Given the description of an element on the screen output the (x, y) to click on. 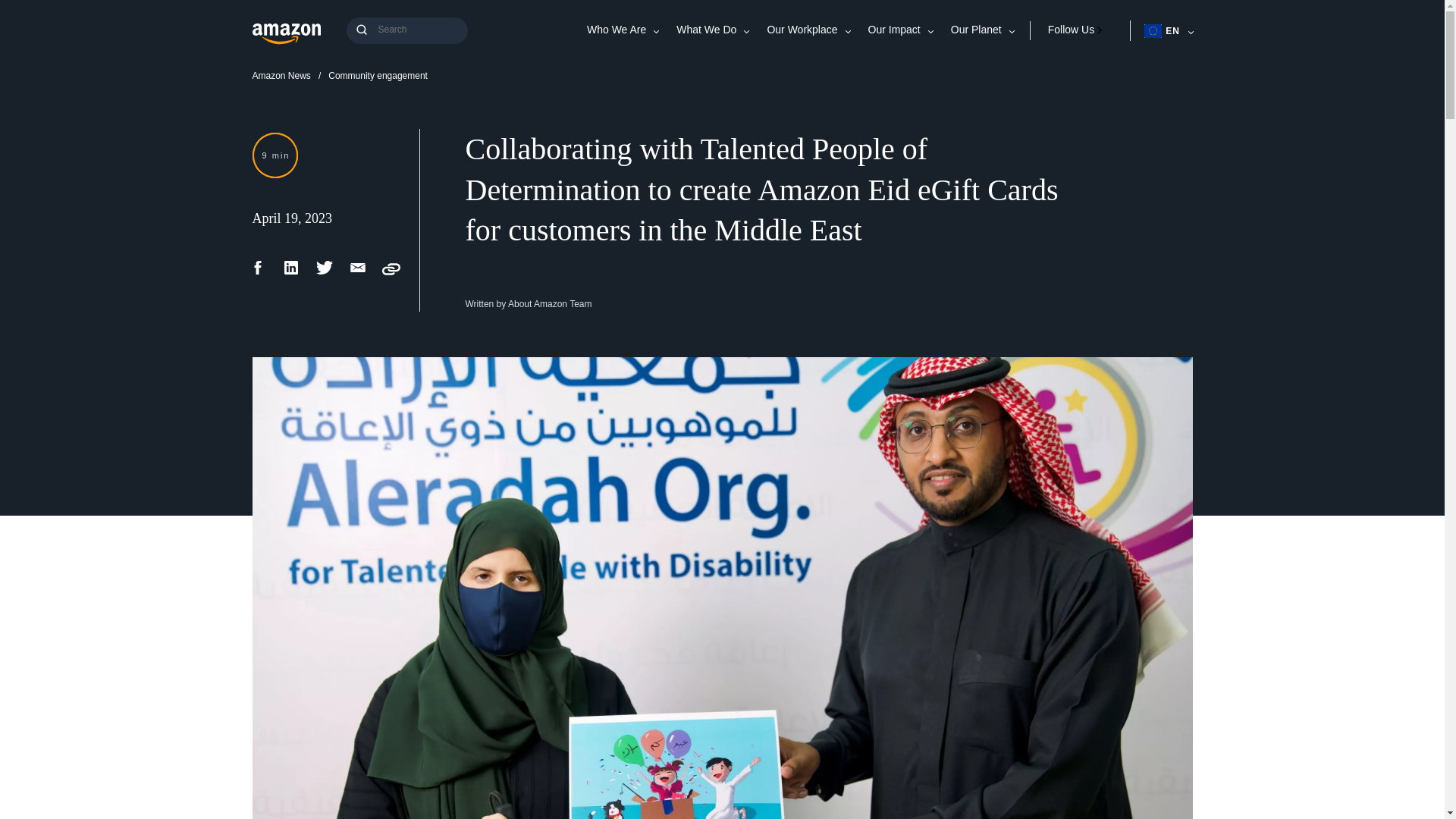
Twitter Share (324, 272)
LinkedIn Share (290, 272)
Facebook Share (257, 272)
Email Share (357, 272)
